Given the description of an element on the screen output the (x, y) to click on. 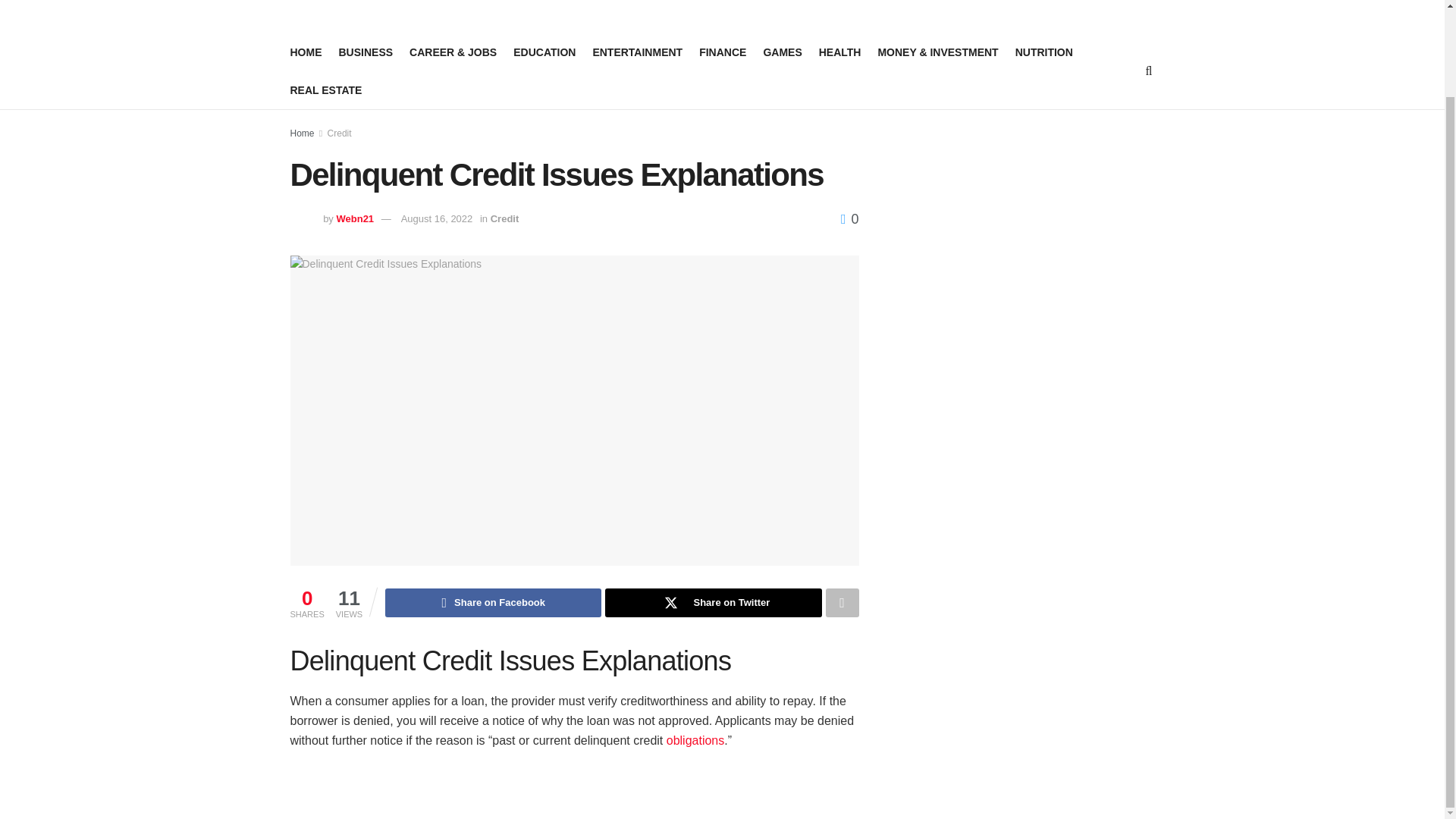
Home (301, 132)
Credit (339, 132)
HEALTH (839, 52)
Webn21 (355, 218)
August 16, 2022 (437, 218)
FINANCE (721, 52)
REAL ESTATE (325, 89)
NUTRITION (1043, 52)
GAMES (782, 52)
HOME (305, 52)
